Given the description of an element on the screen output the (x, y) to click on. 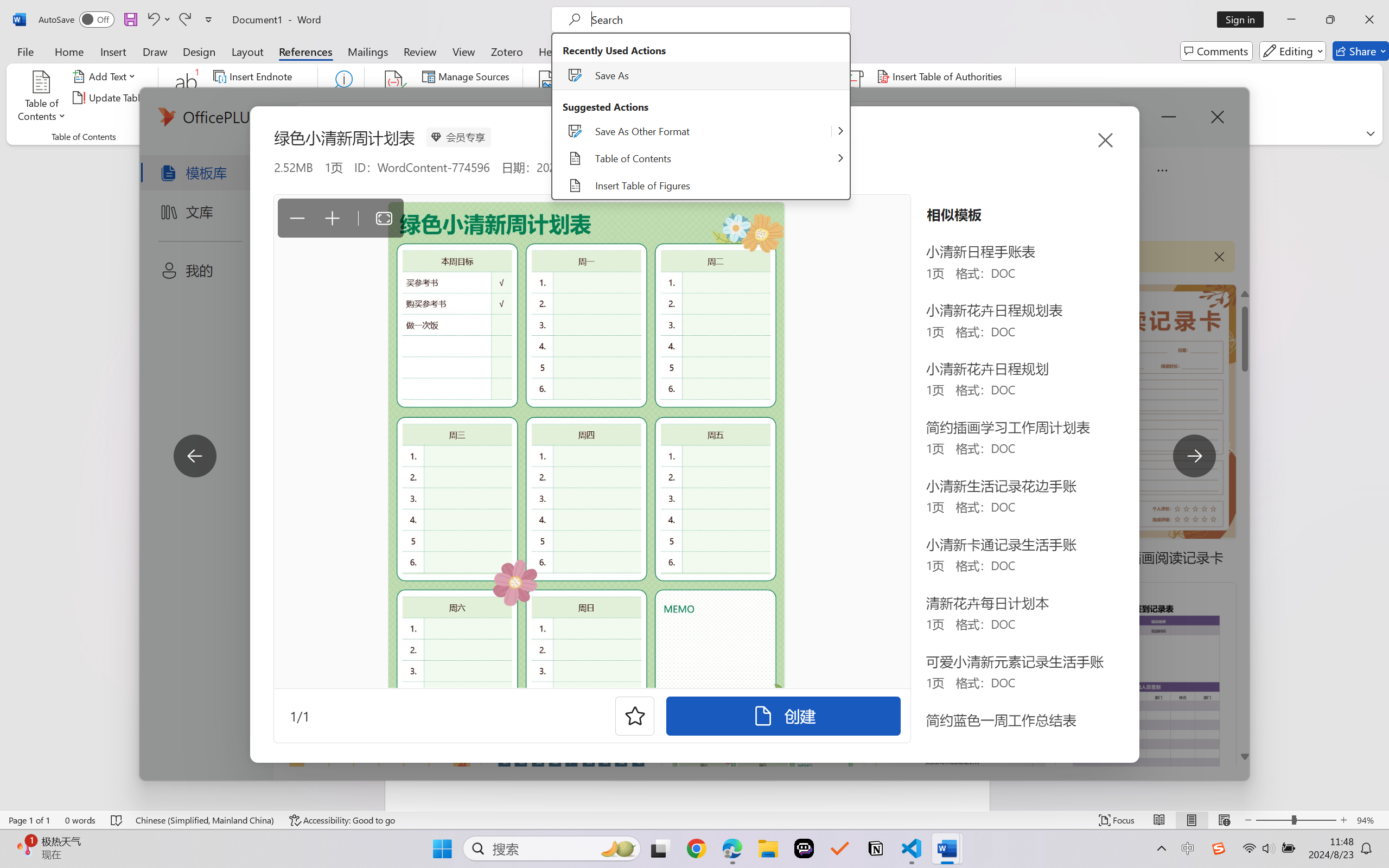
Save As (701, 74)
Insert Citation (393, 97)
Insert Table of Figures (701, 184)
Save As Other Format (691, 131)
Update Index (778, 97)
Style (488, 97)
